Given the description of an element on the screen output the (x, y) to click on. 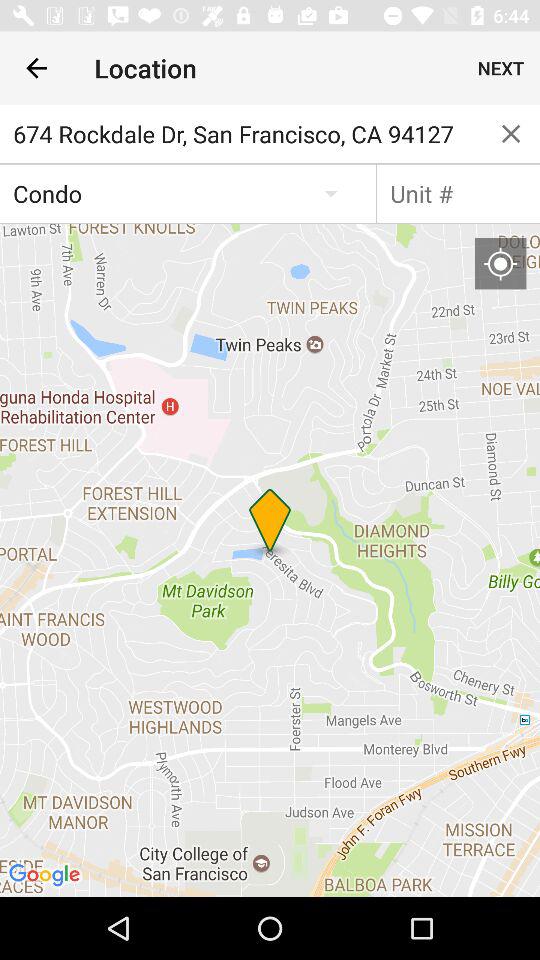
press icon above the 674 rockdale dr (36, 68)
